Given the description of an element on the screen output the (x, y) to click on. 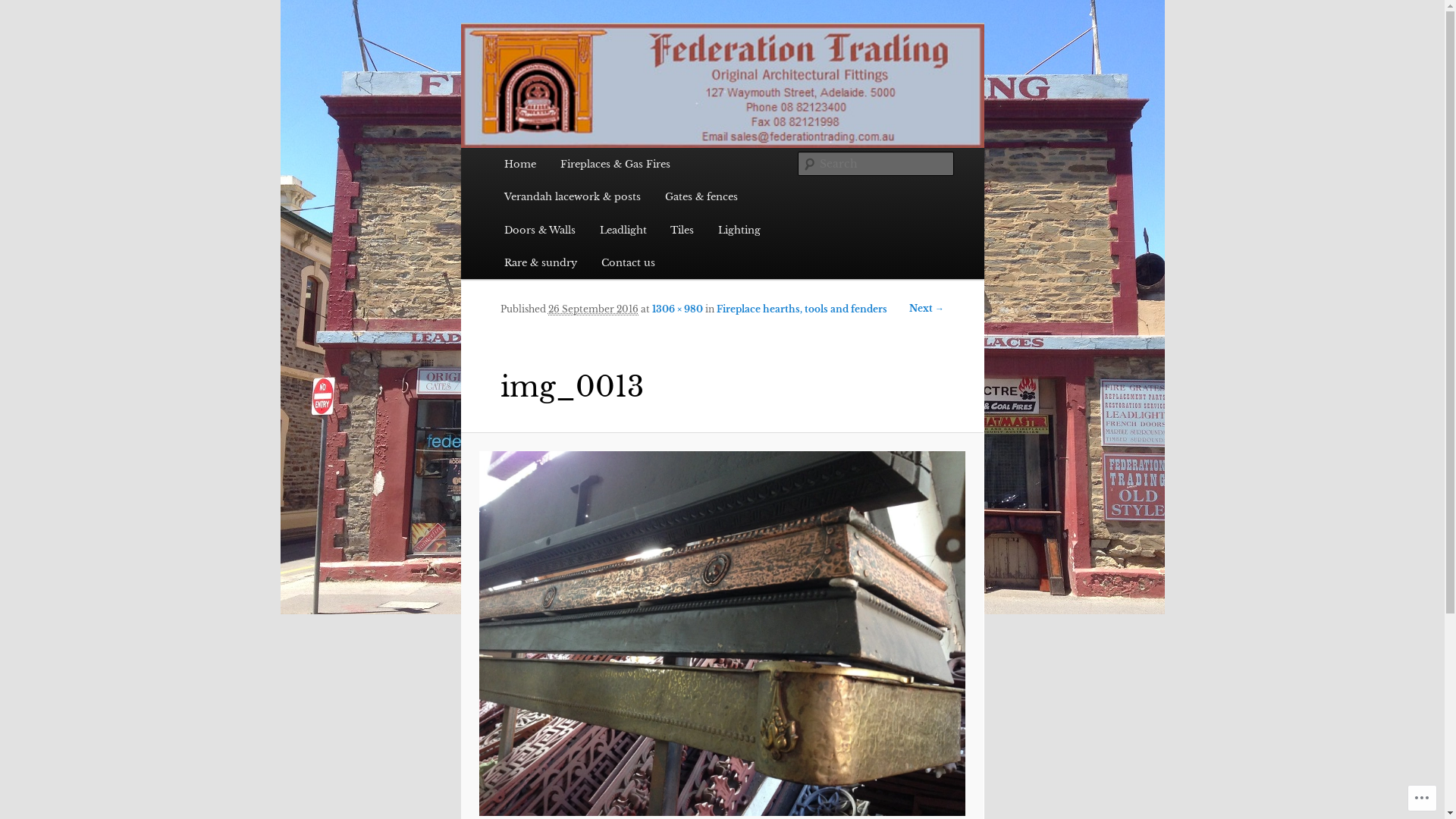
Search Element type: text (25, 9)
Skip to primary content Element type: text (22, 22)
Lighting Element type: text (739, 229)
Fireplace hearths, tools and fenders Element type: text (801, 308)
Home Element type: text (520, 163)
Tiles Element type: text (682, 229)
Leadlight Element type: text (622, 229)
Federation Trading Element type: text (612, 79)
Contact us Element type: text (628, 262)
Fireplaces & Gas Fires Element type: text (615, 163)
Rare & sundry Element type: text (540, 262)
Verandah lacework & posts Element type: text (572, 196)
Doors & Walls Element type: text (539, 229)
img_0013 Element type: hover (722, 633)
Gates & fences Element type: text (700, 196)
